Given the description of an element on the screen output the (x, y) to click on. 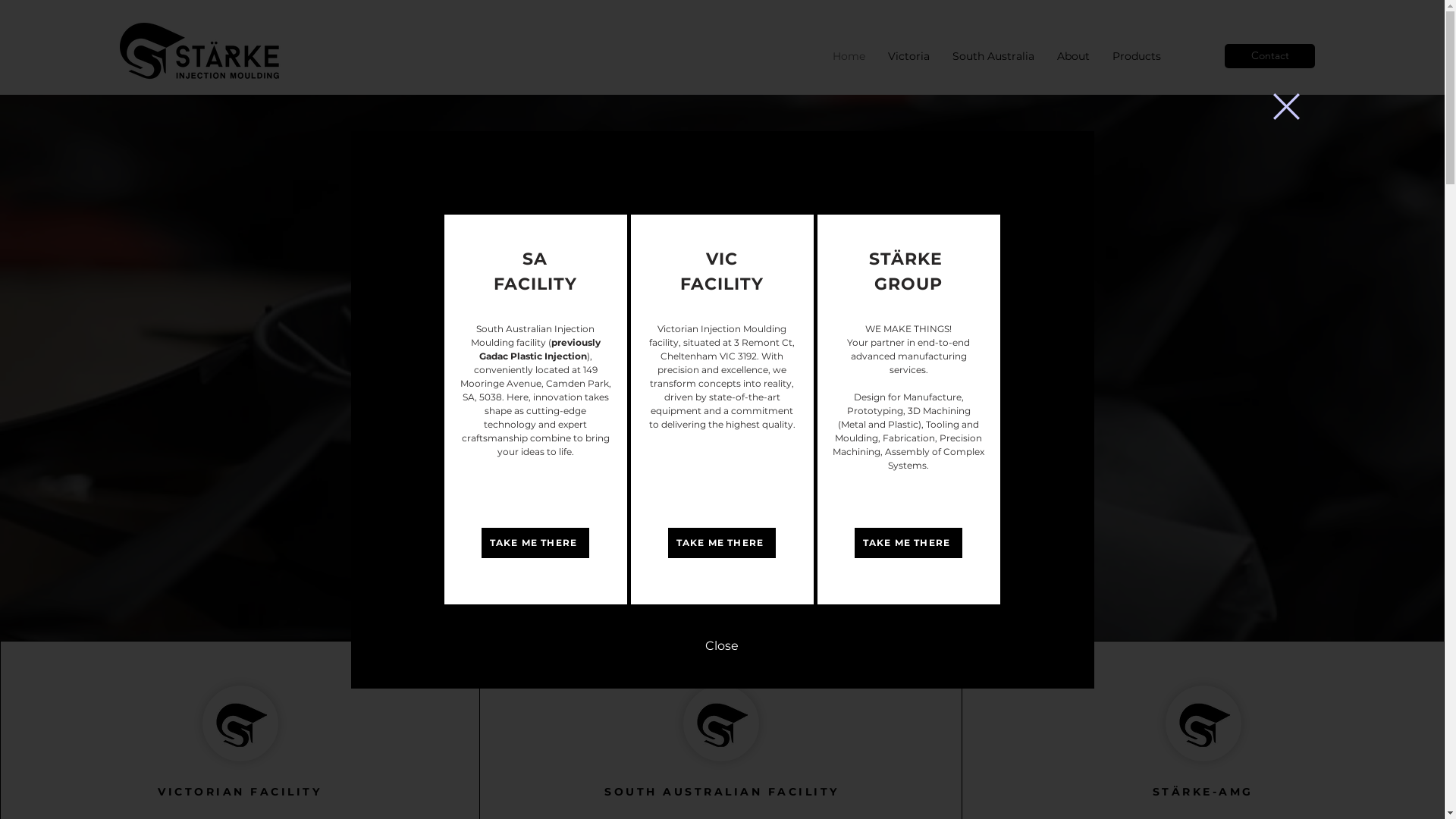
Home Element type: text (848, 56)
TAKE ME THERE Element type: text (534, 542)
Products Element type: text (1136, 56)
GET A QUOTE Element type: text (450, 518)
TAKE ME THERE Element type: text (907, 542)
Victoria Element type: text (908, 56)
Contact Element type: text (1269, 55)
TAKE ME THERE Element type: text (721, 542)
CONTACT US Element type: text (450, 470)
About Element type: text (1073, 56)
South Australia Element type: text (993, 56)
Back to site Element type: hover (1285, 106)
